Given the description of an element on the screen output the (x, y) to click on. 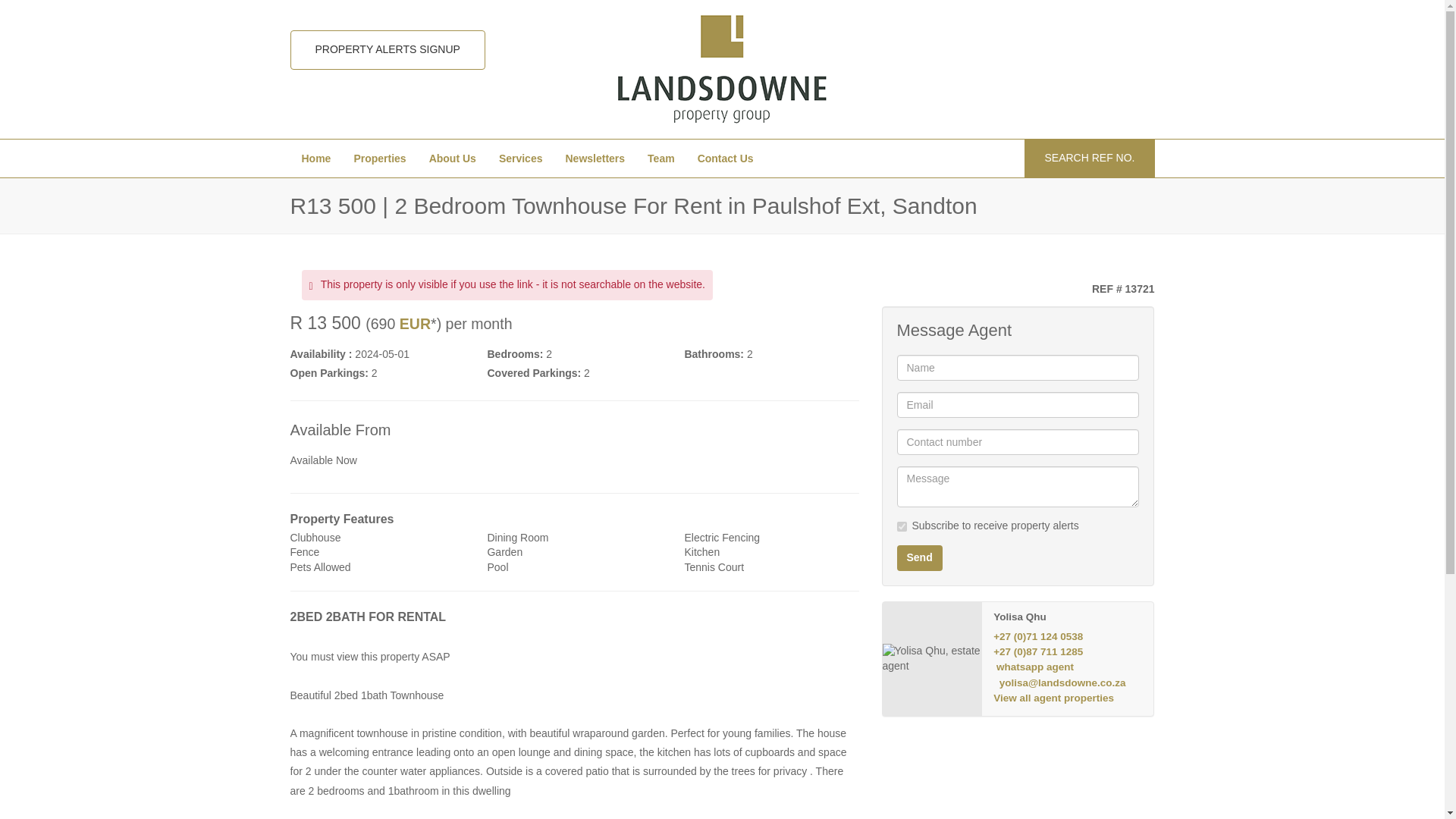
SEARCH REF NO. (1089, 158)
About Us (452, 158)
Powerful Property Service Solutions, Estate Agency Logo (722, 69)
Home (315, 158)
Services (520, 158)
Contact Us (725, 158)
Read More (574, 814)
Properties (379, 158)
Team (660, 158)
on (900, 526)
